Given the description of an element on the screen output the (x, y) to click on. 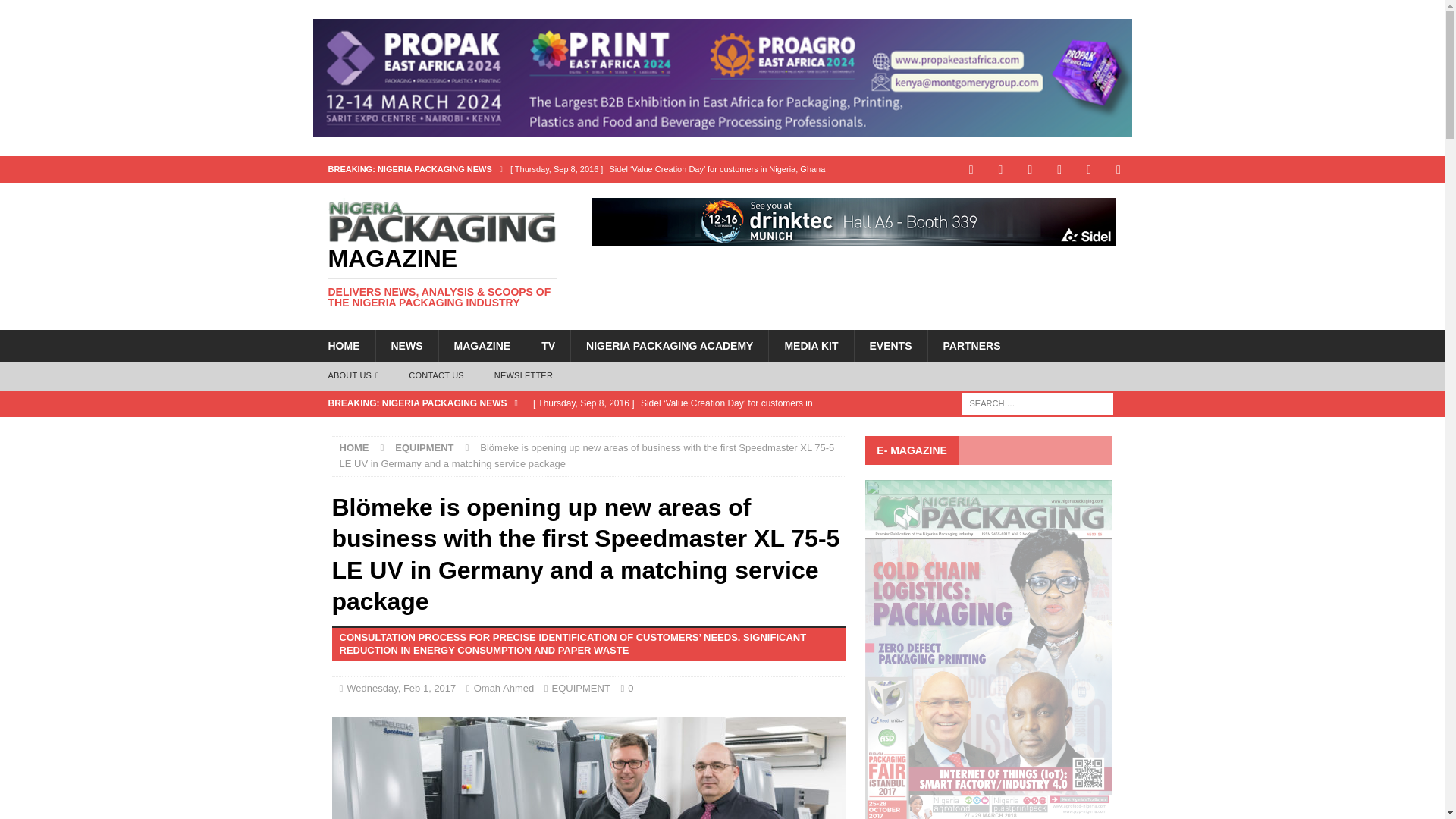
NEWS (406, 345)
TV (547, 345)
Propak-East-Africa-2024 (722, 77)
MAGAZINE (481, 345)
HOME (343, 345)
MEDIA KIT (810, 345)
EVENTS (890, 345)
NIGERIA PACKAGING ACADEMY (669, 345)
